Given the description of an element on the screen output the (x, y) to click on. 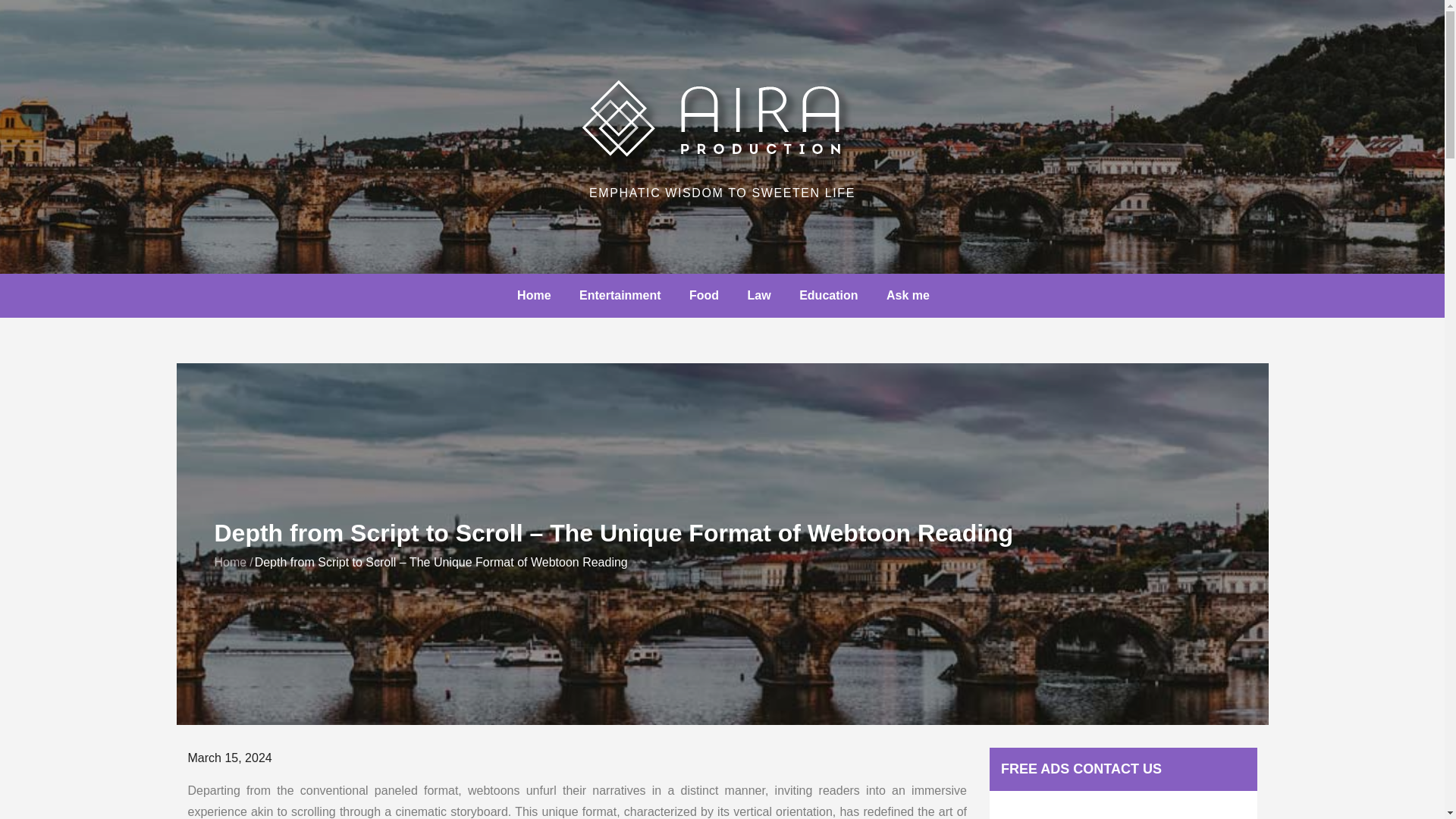
Entertainment (620, 295)
Law (758, 295)
Education (828, 295)
Home (230, 562)
Food (703, 295)
Home (533, 295)
Ask me (907, 295)
March 15, 2024 (229, 757)
